Given the description of an element on the screen output the (x, y) to click on. 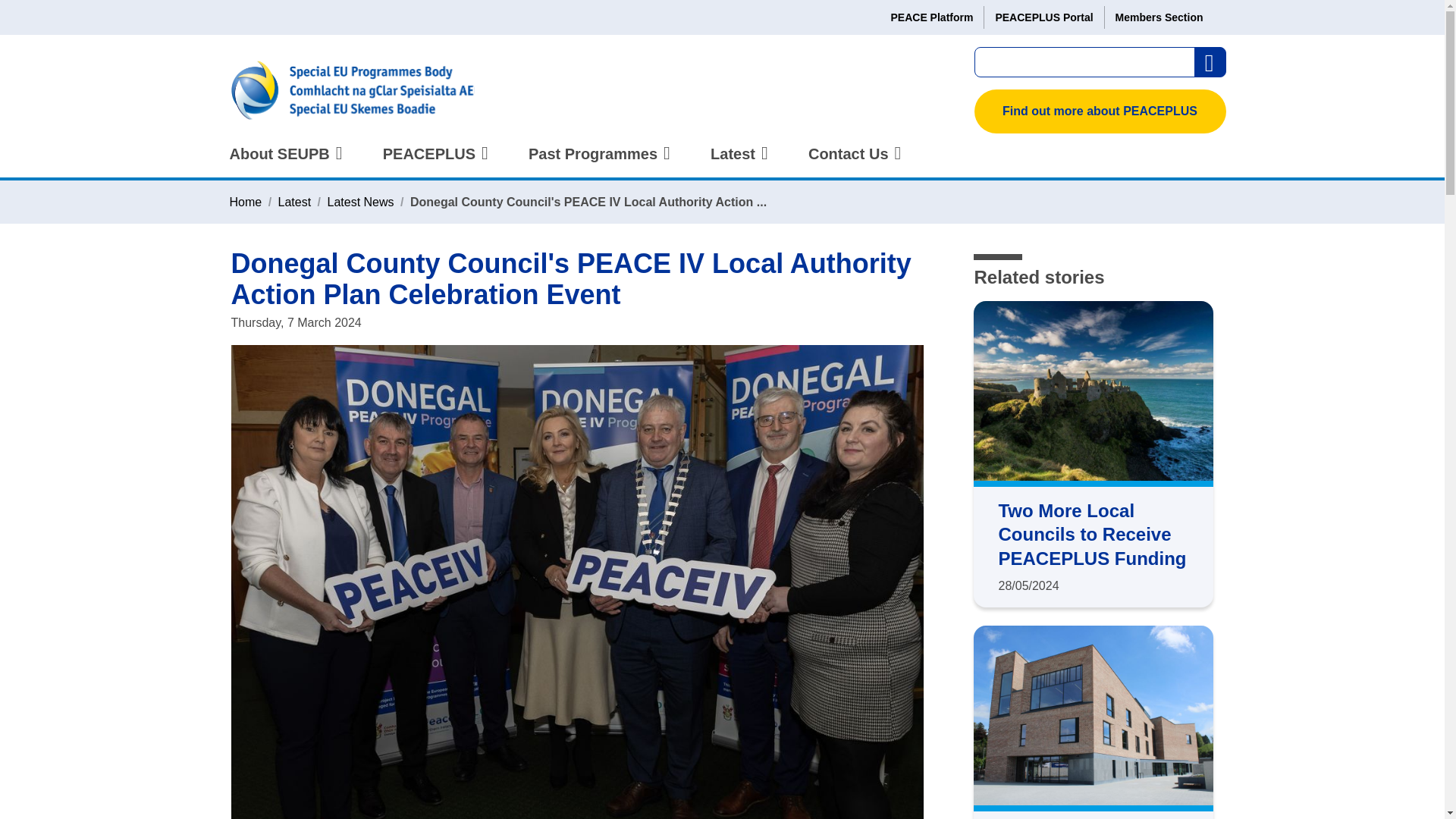
About SEUPB (282, 161)
PEACE Platform (931, 16)
Search the site (1210, 61)
PEACEPLUS Portal (1043, 16)
Past Programmes (596, 161)
Search the site (1210, 61)
Members Section (1159, 16)
Find out more about PEACEPLUS (1099, 111)
PEACEPLUS (432, 161)
